Given the description of an element on the screen output the (x, y) to click on. 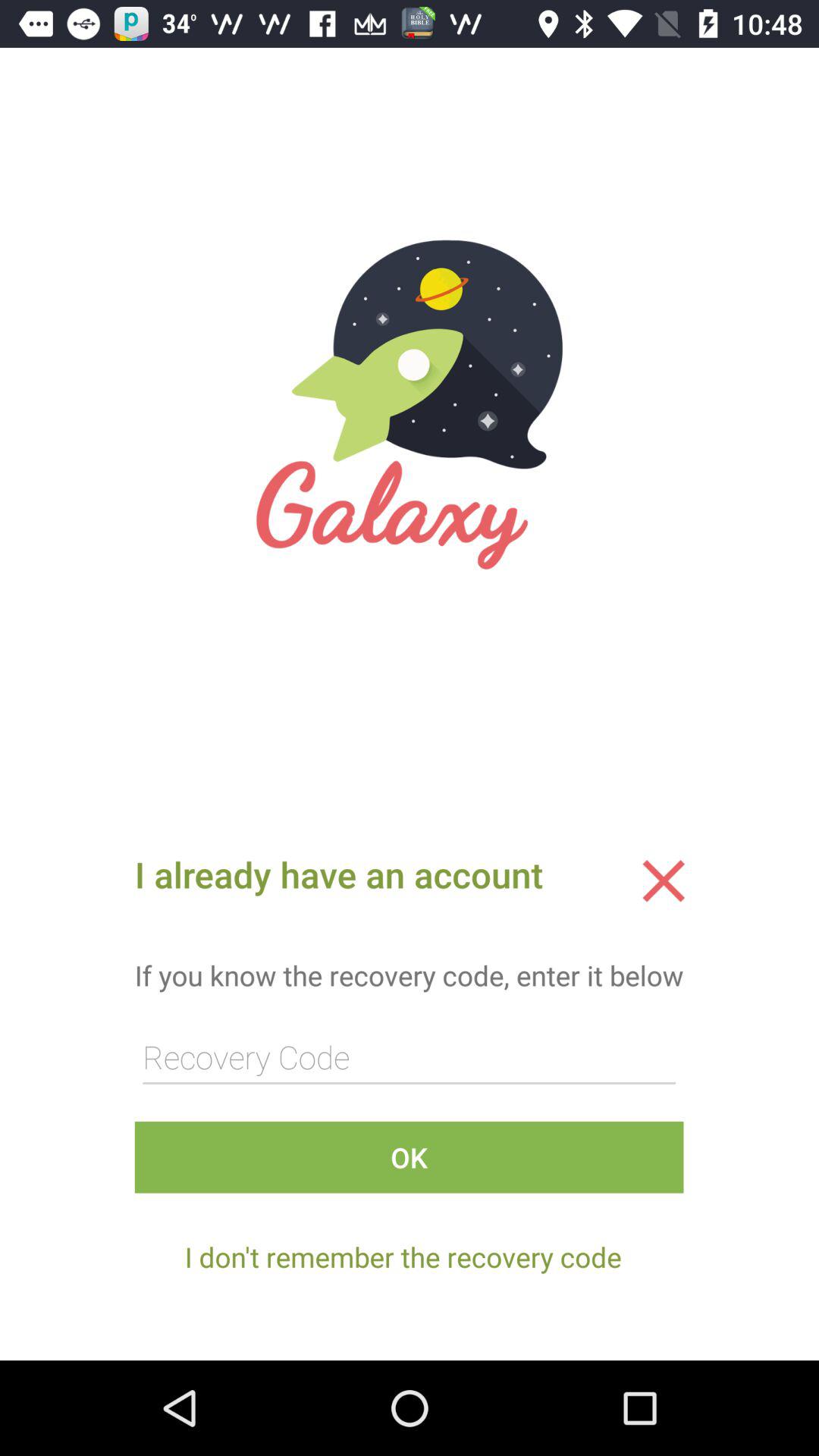
click on the cancel sign (663, 880)
